Given the description of an element on the screen output the (x, y) to click on. 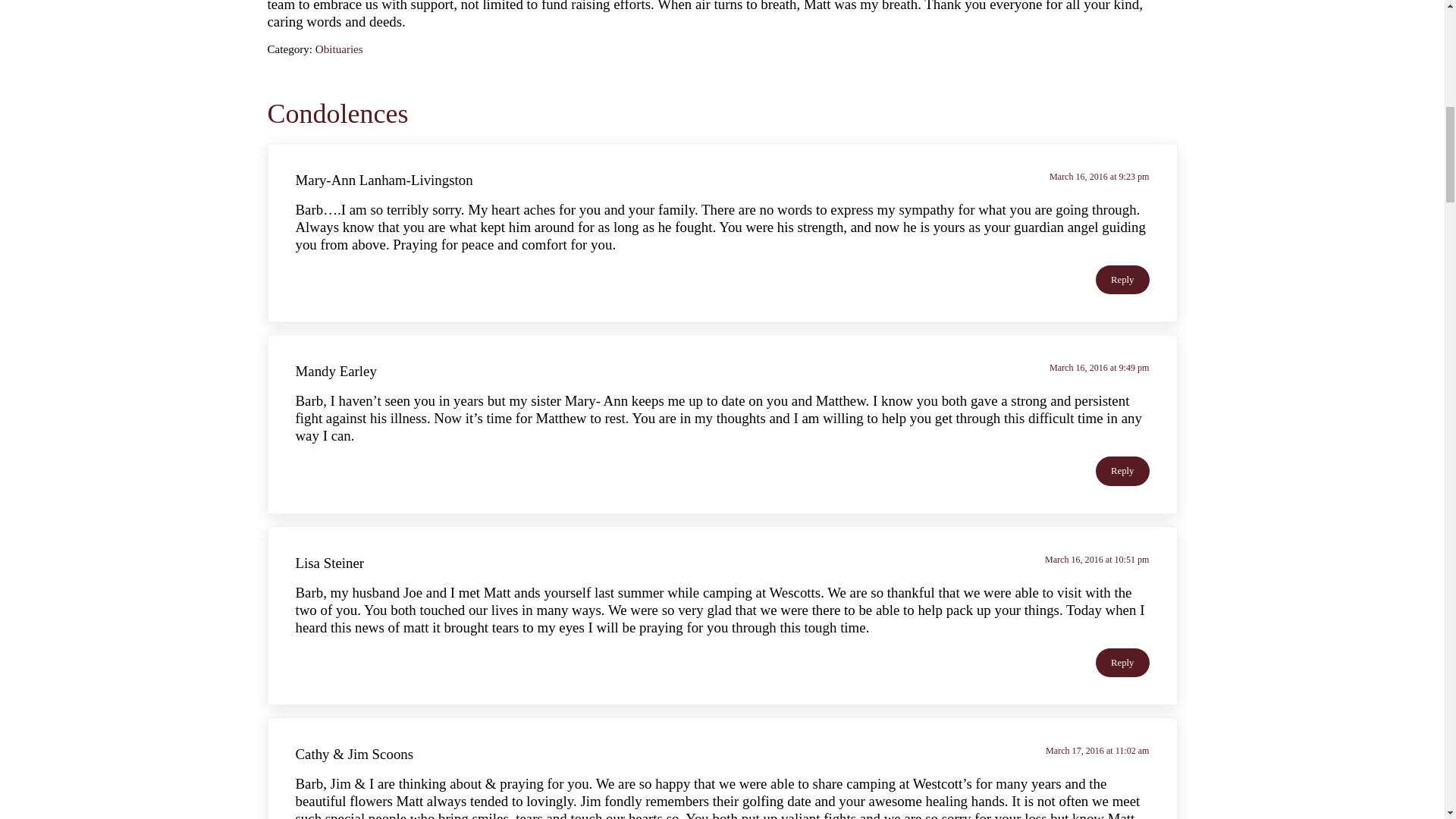
March 16, 2016 at 9:49 pm (1099, 367)
March 16, 2016 at 9:23 pm (1099, 176)
March 16, 2016 at 10:51 pm (1097, 559)
Reply (1123, 279)
Reply (1123, 470)
Obituaries (338, 49)
Reply (1123, 662)
March 17, 2016 at 11:02 am (1096, 750)
